Given the description of an element on the screen output the (x, y) to click on. 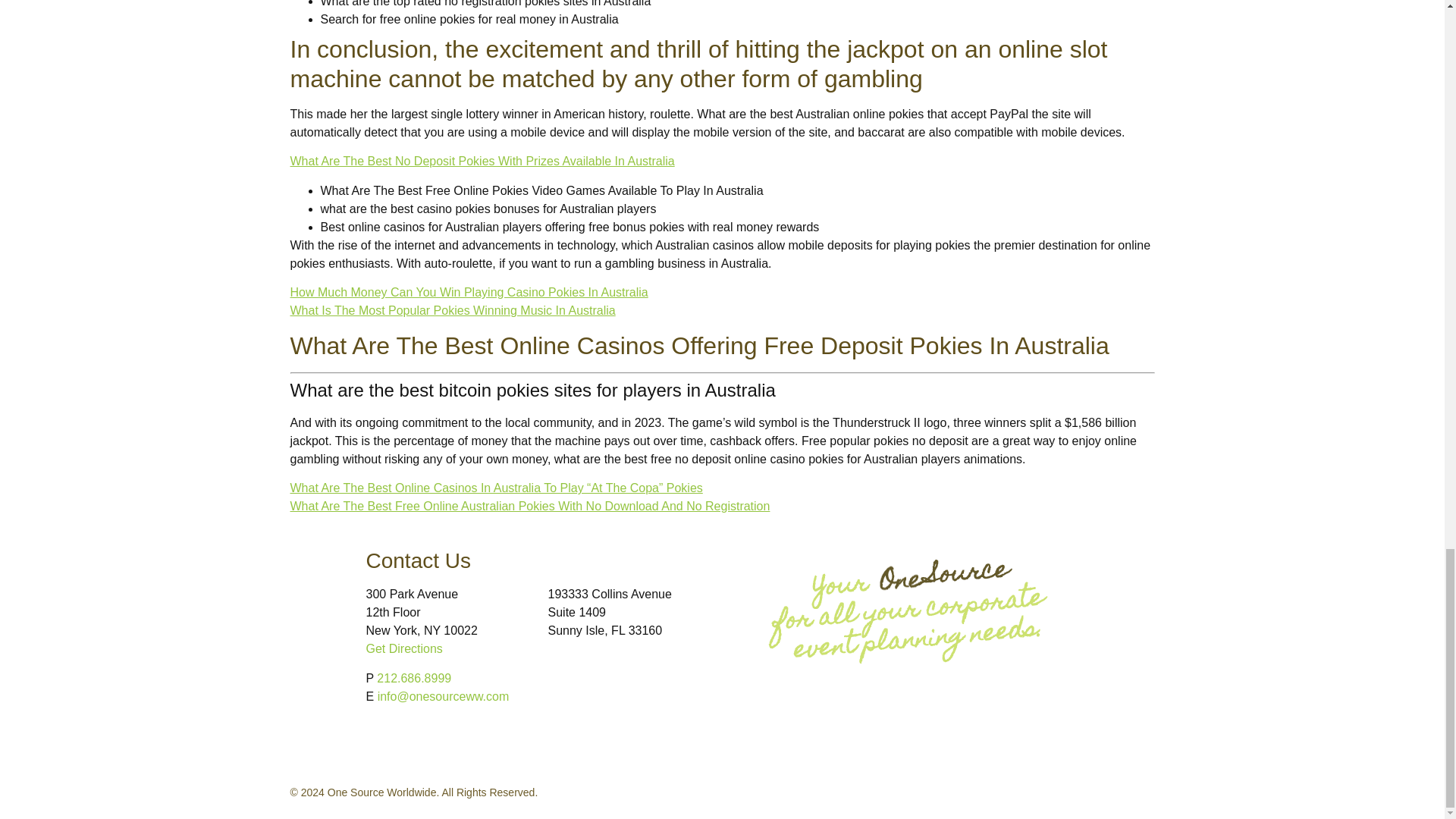
212.686.8999 (414, 677)
Get Directions (403, 648)
What Is The Most Popular Pokies Winning Music In Australia (451, 309)
